Given the description of an element on the screen output the (x, y) to click on. 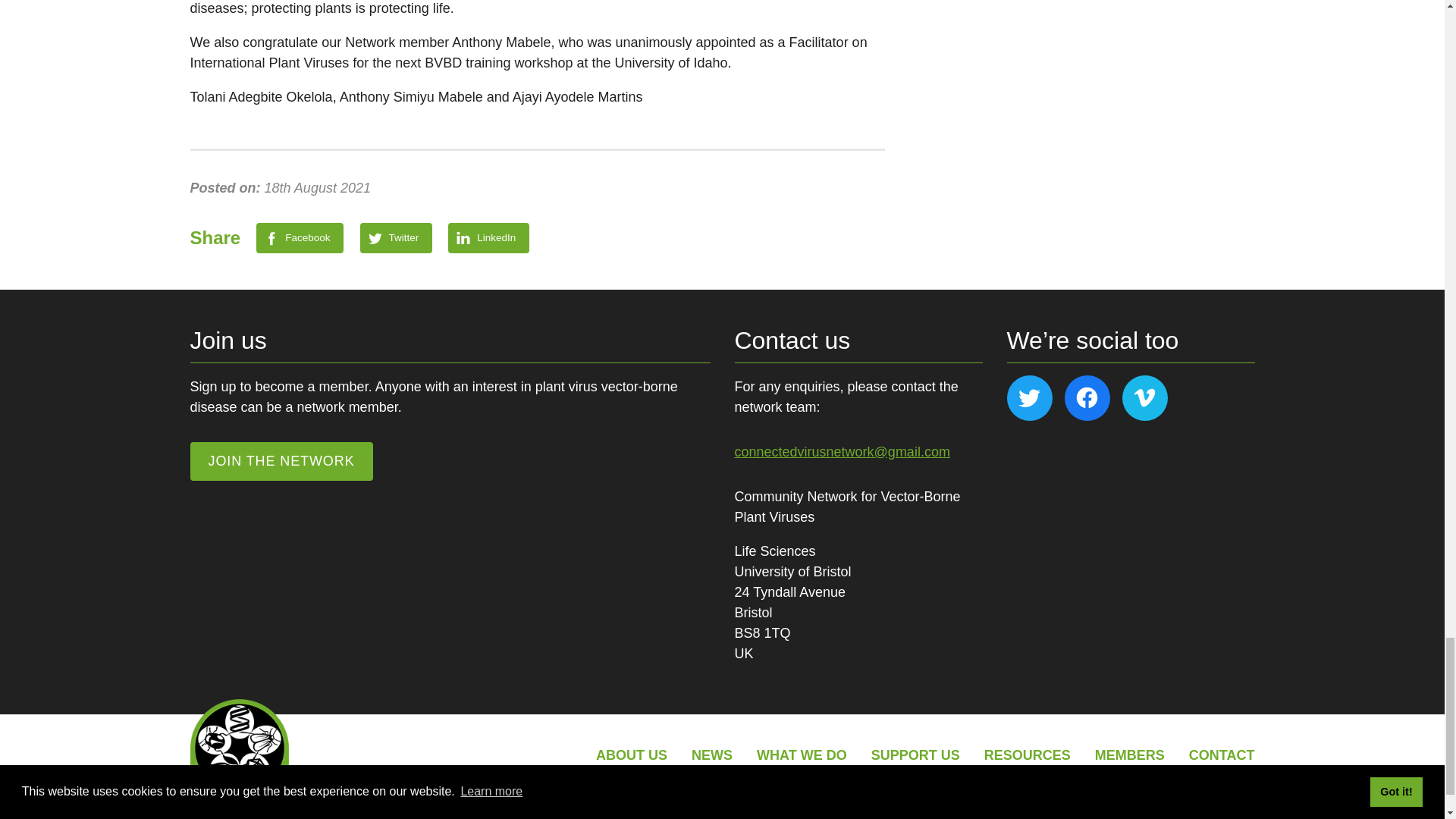
Facebook (299, 237)
LinkedIn (488, 237)
Twitter (395, 237)
